Given the description of an element on the screen output the (x, y) to click on. 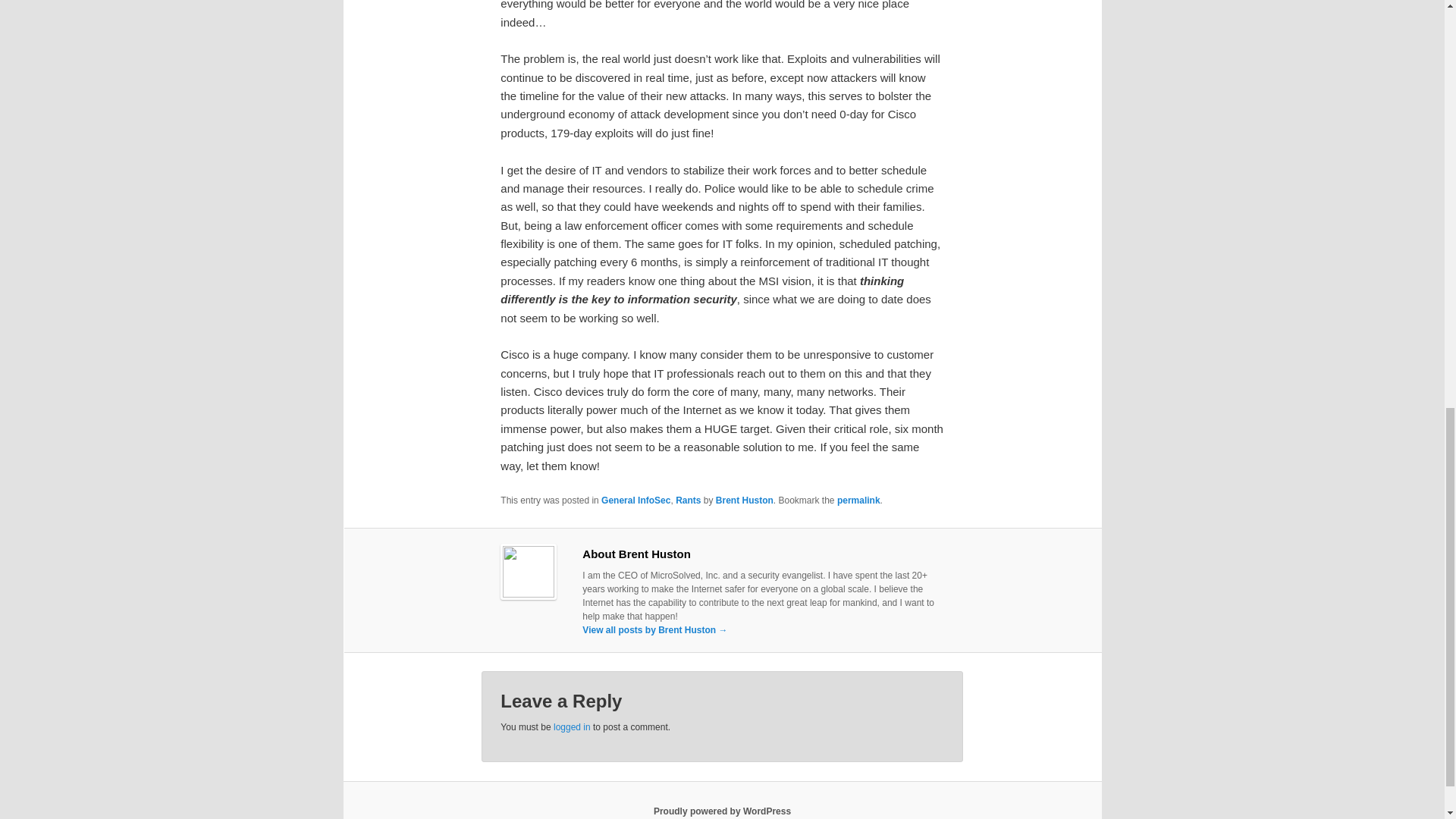
Proudly powered by WordPress (721, 810)
permalink (858, 500)
Semantic Personal Publishing Platform (721, 810)
Rants (687, 500)
logged in (572, 726)
General InfoSec (635, 500)
Brent Huston (744, 500)
